Given the description of an element on the screen output the (x, y) to click on. 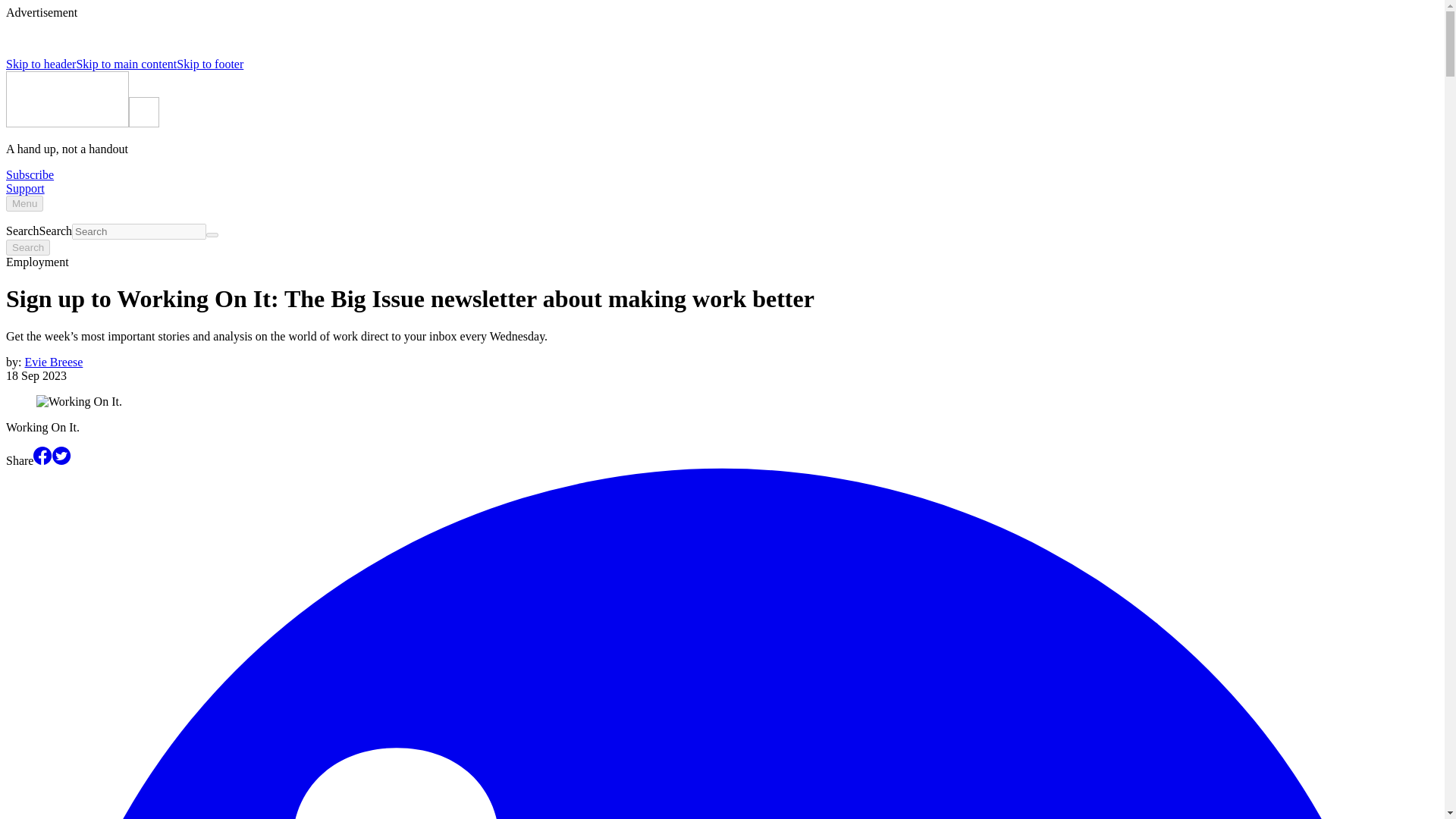
Search (27, 247)
Skip to footer (209, 63)
Menu (24, 203)
Search (212, 234)
Skip to main content (125, 63)
Evie Breese (53, 361)
Menu (24, 203)
Support (25, 187)
Subscribe (29, 174)
Search theweek.com (138, 231)
Skip to header (40, 63)
Search (27, 247)
Subscribe (29, 174)
Support (25, 187)
